Given the description of an element on the screen output the (x, y) to click on. 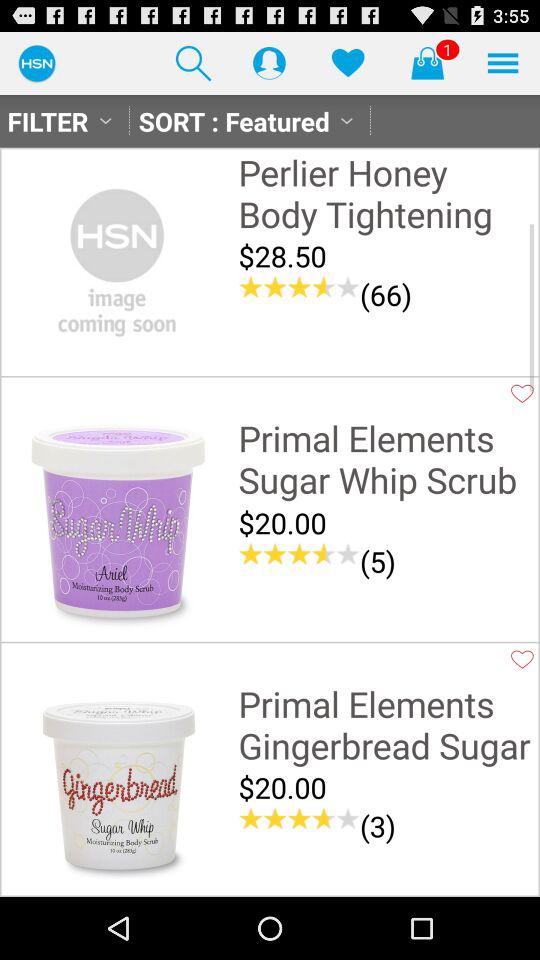
turn on (3) icon (378, 825)
